Given the description of an element on the screen output the (x, y) to click on. 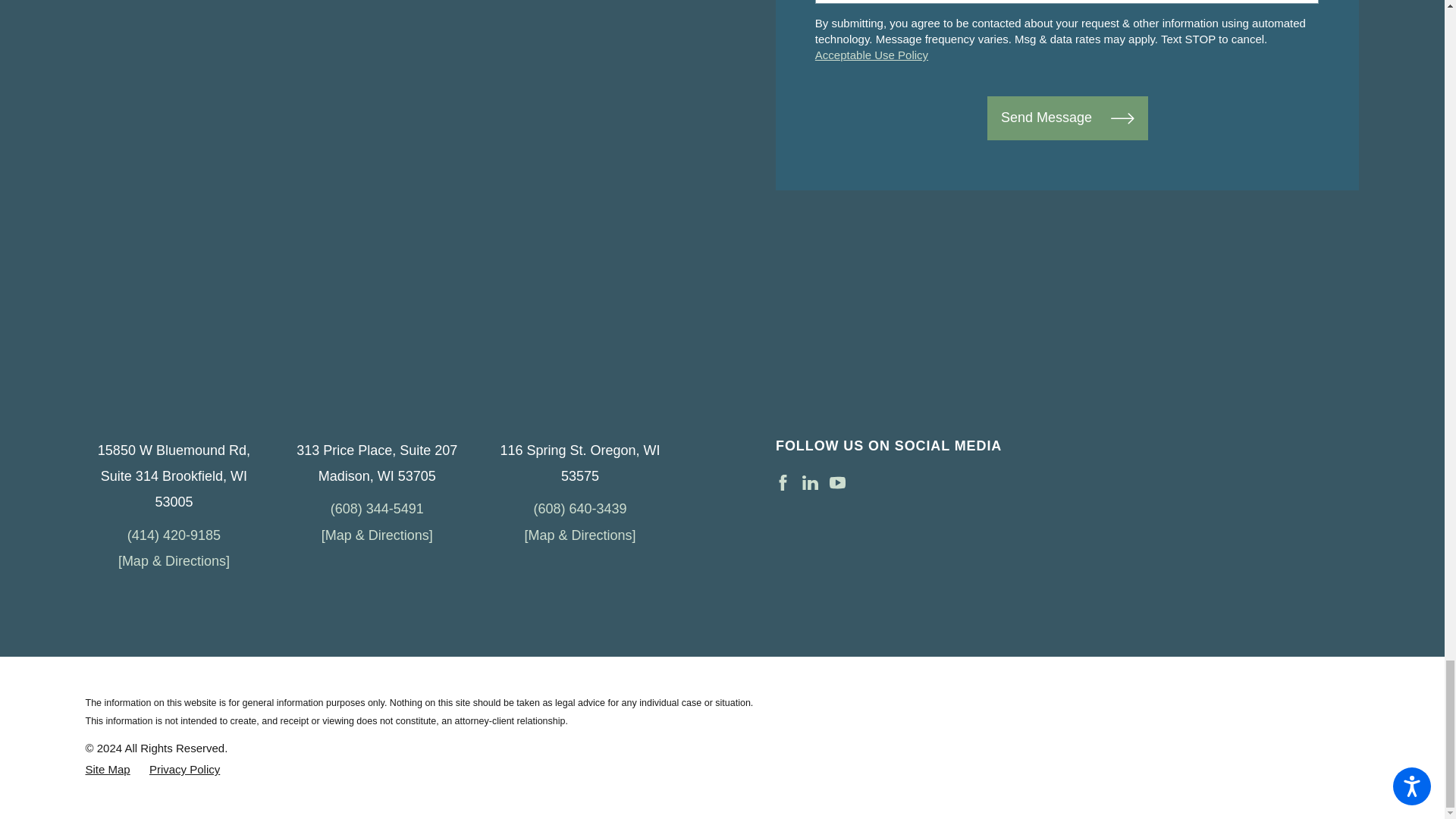
YouTube (837, 482)
Facebook (782, 482)
LinkedIn (810, 482)
